Given the description of an element on the screen output the (x, y) to click on. 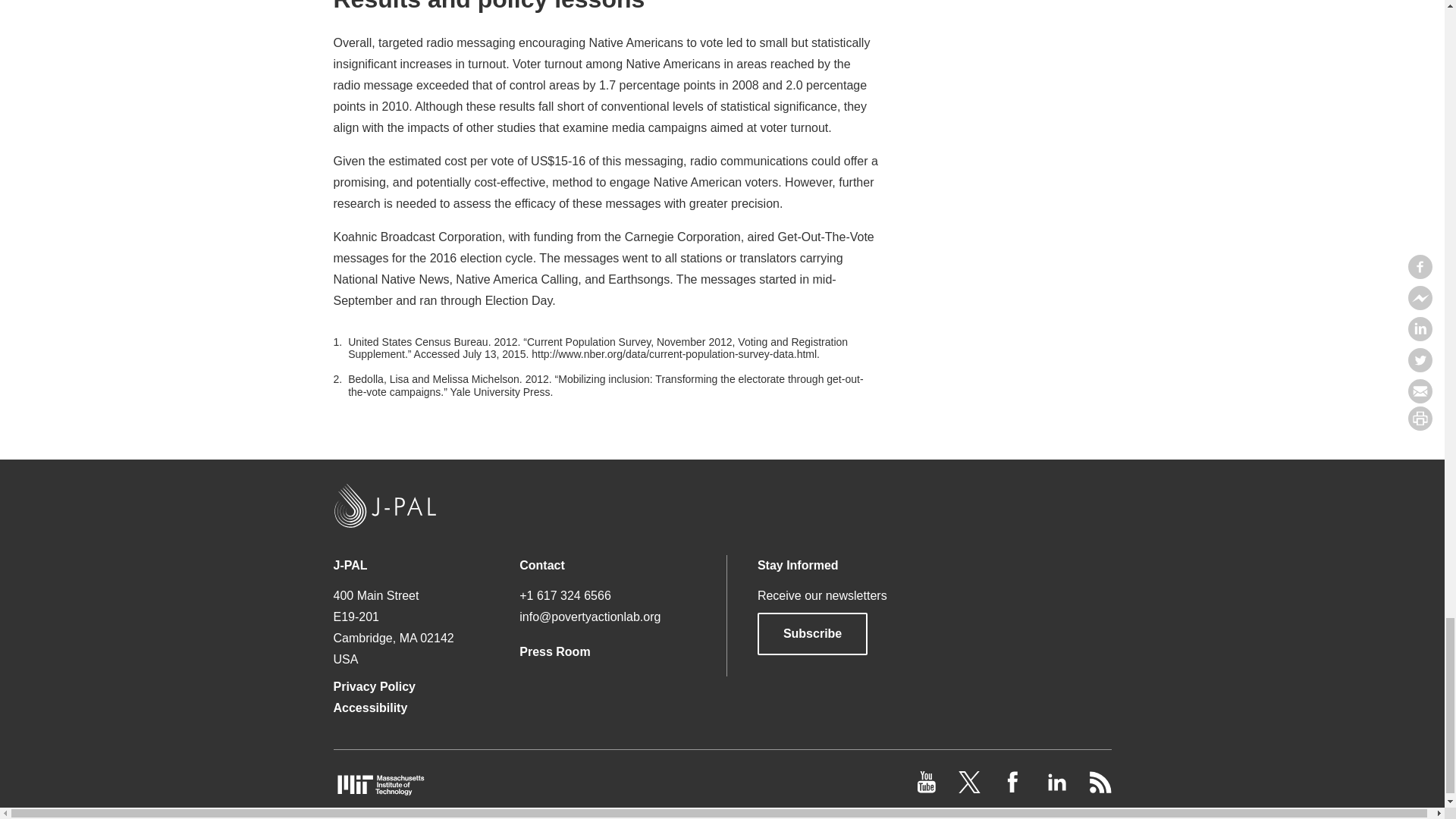
LinkedIn (1057, 788)
twitter (971, 788)
youtube (927, 788)
facebook (1015, 788)
